Given the description of an element on the screen output the (x, y) to click on. 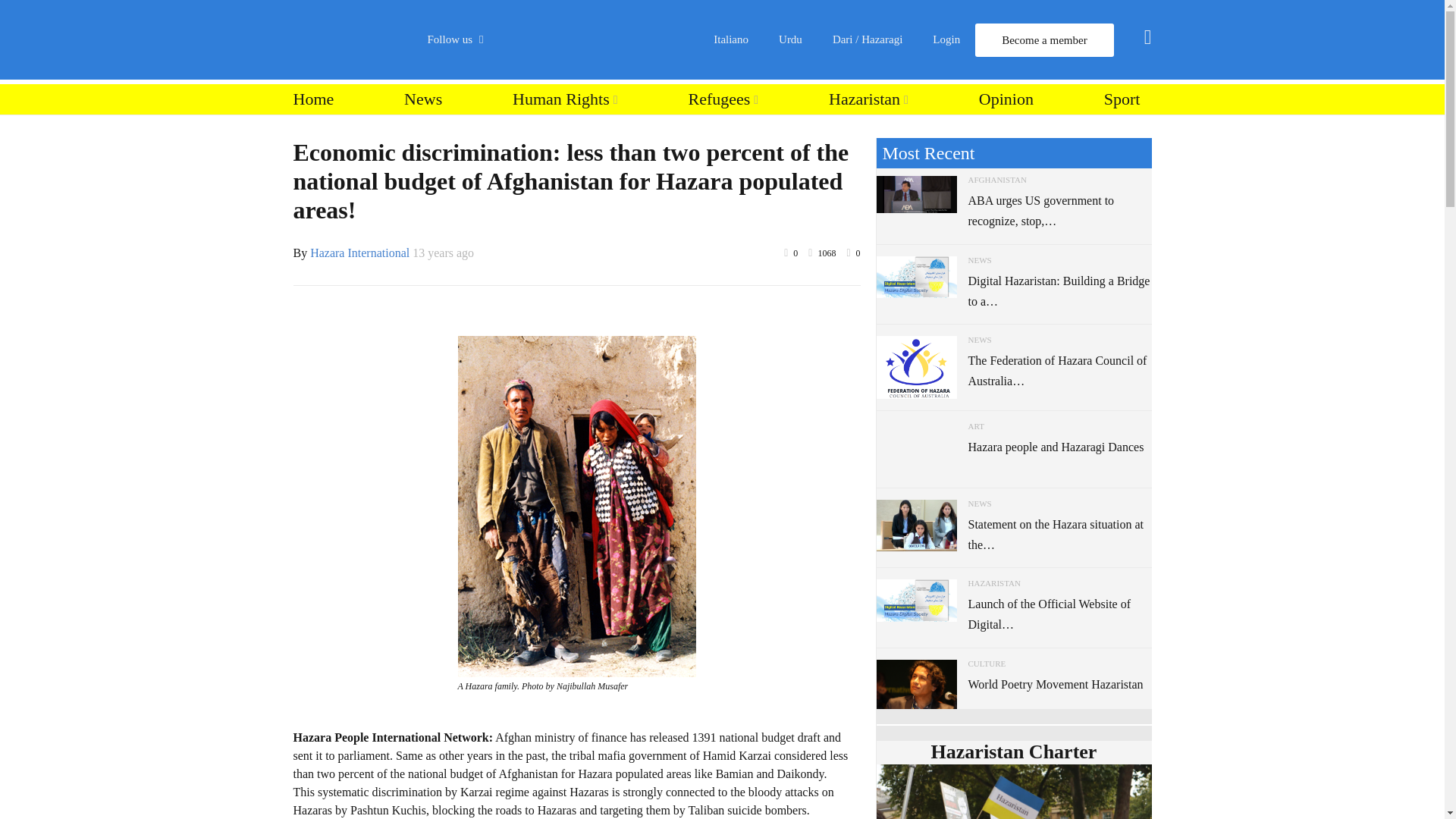
Follow us on Facebook (515, 98)
Follow us on YouTube (515, 175)
Follow us on Instagram (515, 214)
Follow us on Twitter (515, 136)
Follow us on Instagram (515, 214)
Follow us (463, 39)
View all posts in Afghanistan (997, 179)
Follow us on Facebook (515, 98)
View all posts in News (979, 259)
Become a member (1044, 39)
